Given the description of an element on the screen output the (x, y) to click on. 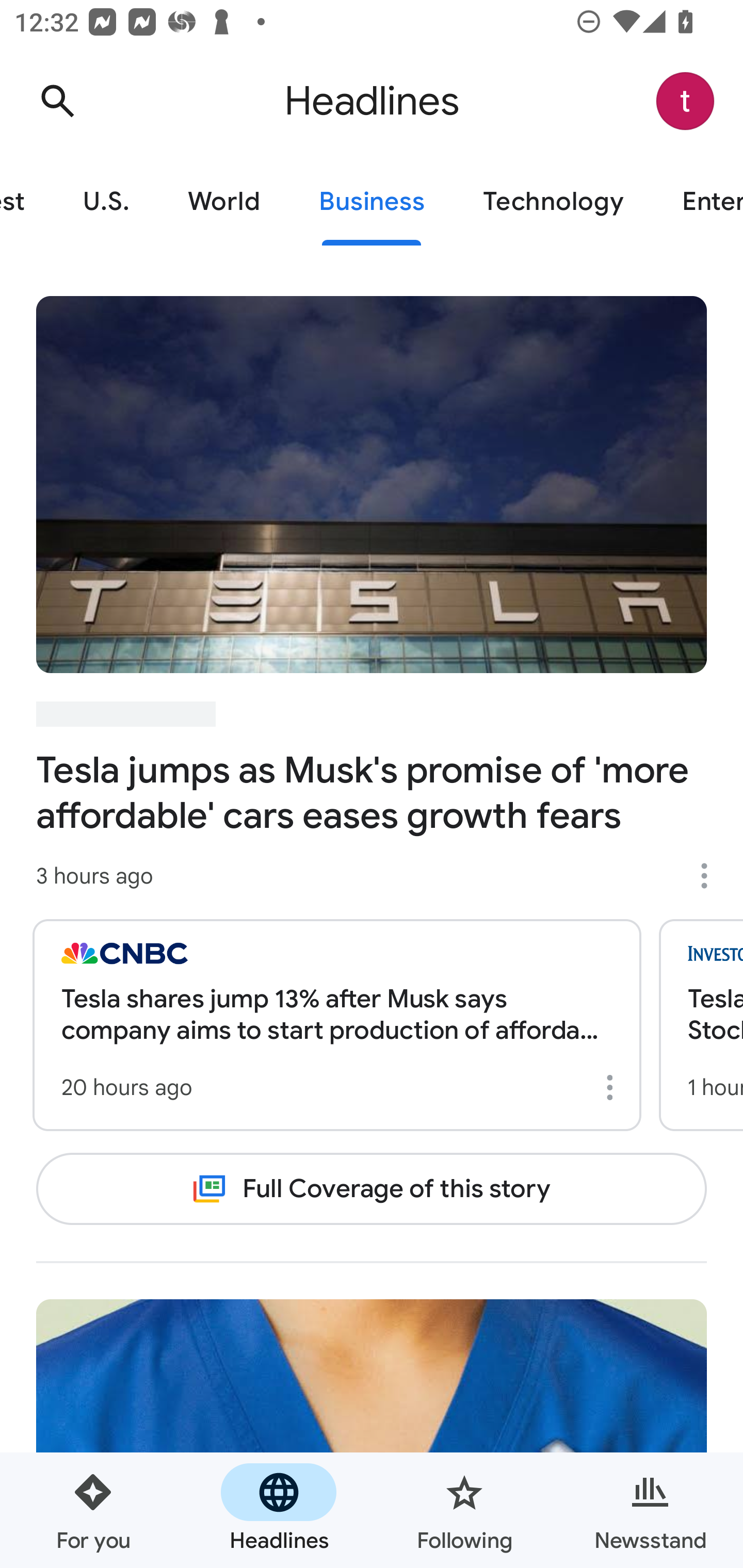
Search (57, 100)
U.S. (106, 202)
World (224, 202)
Technology (552, 202)
Entertainment (697, 202)
More options (711, 875)
More options (613, 1086)
Full Coverage of this story (371, 1188)
For you (92, 1509)
Headlines (278, 1509)
Following (464, 1509)
Newsstand (650, 1509)
